Given the description of an element on the screen output the (x, y) to click on. 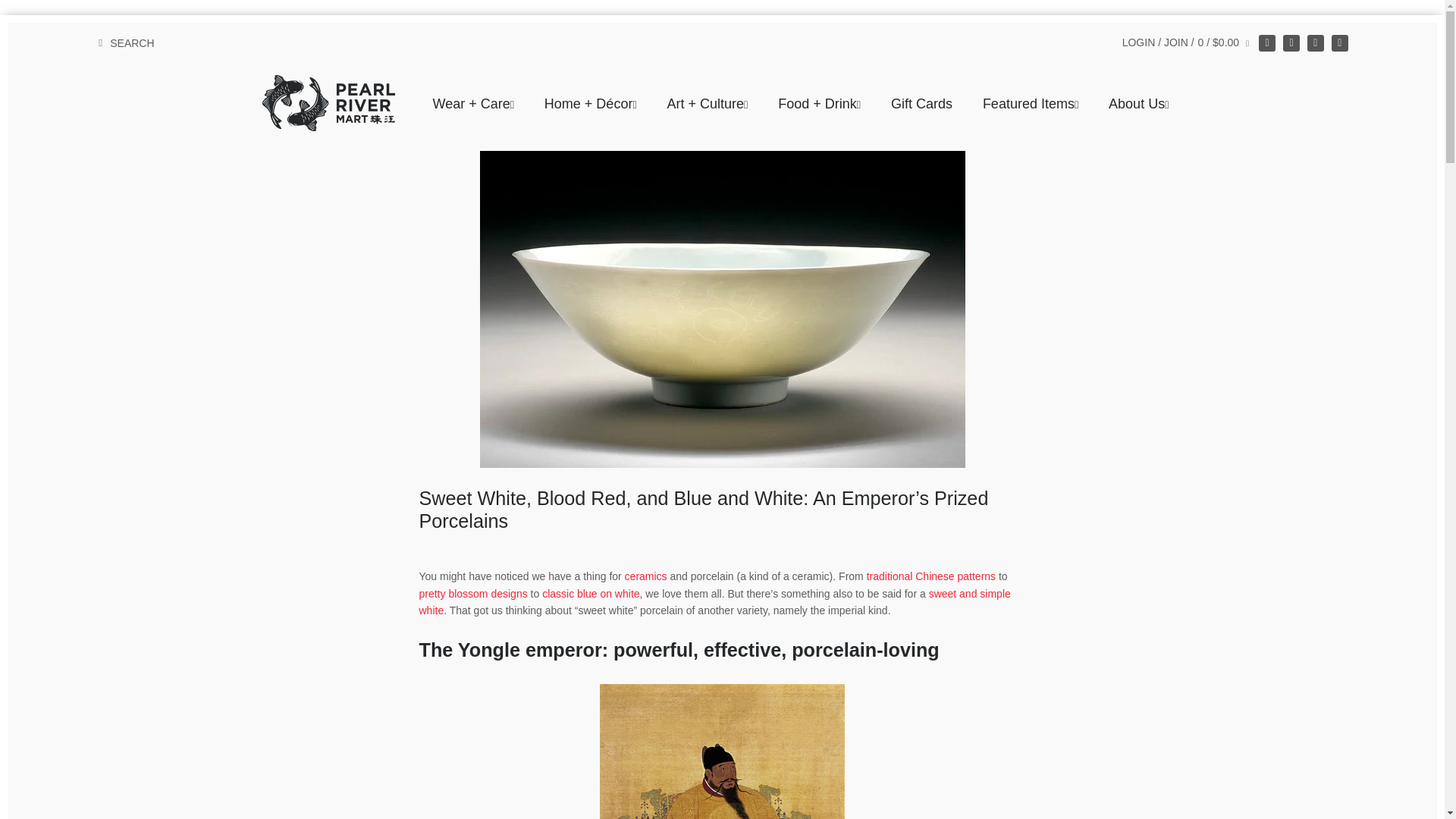
Twitter (1315, 43)
Pinterest (1340, 43)
JOIN (1175, 42)
Instagram (1291, 43)
Facebook (1267, 43)
LOGIN (1139, 42)
